Given the description of an element on the screen output the (x, y) to click on. 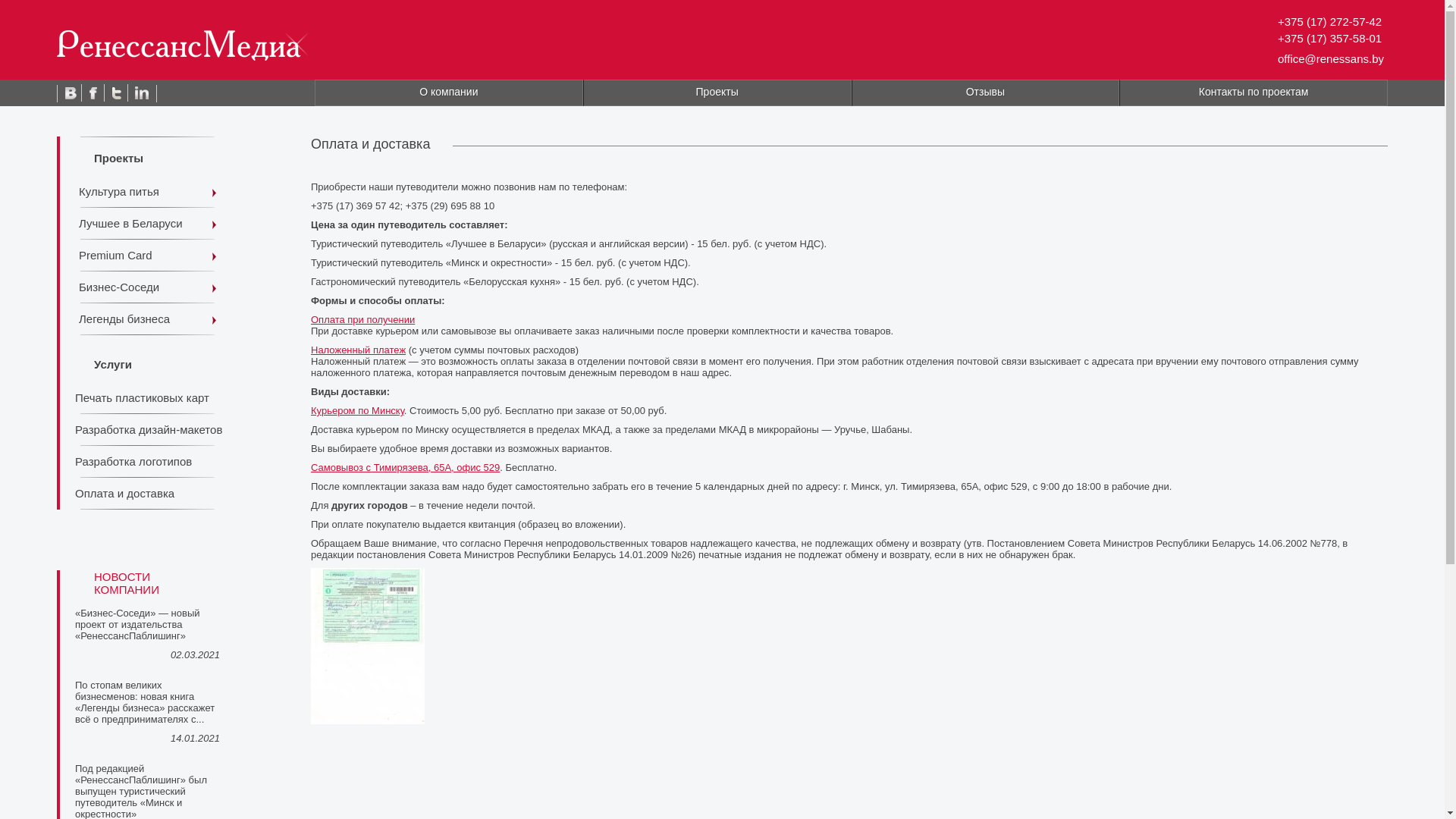
Premium Card Element type: text (147, 255)
